Given the description of an element on the screen output the (x, y) to click on. 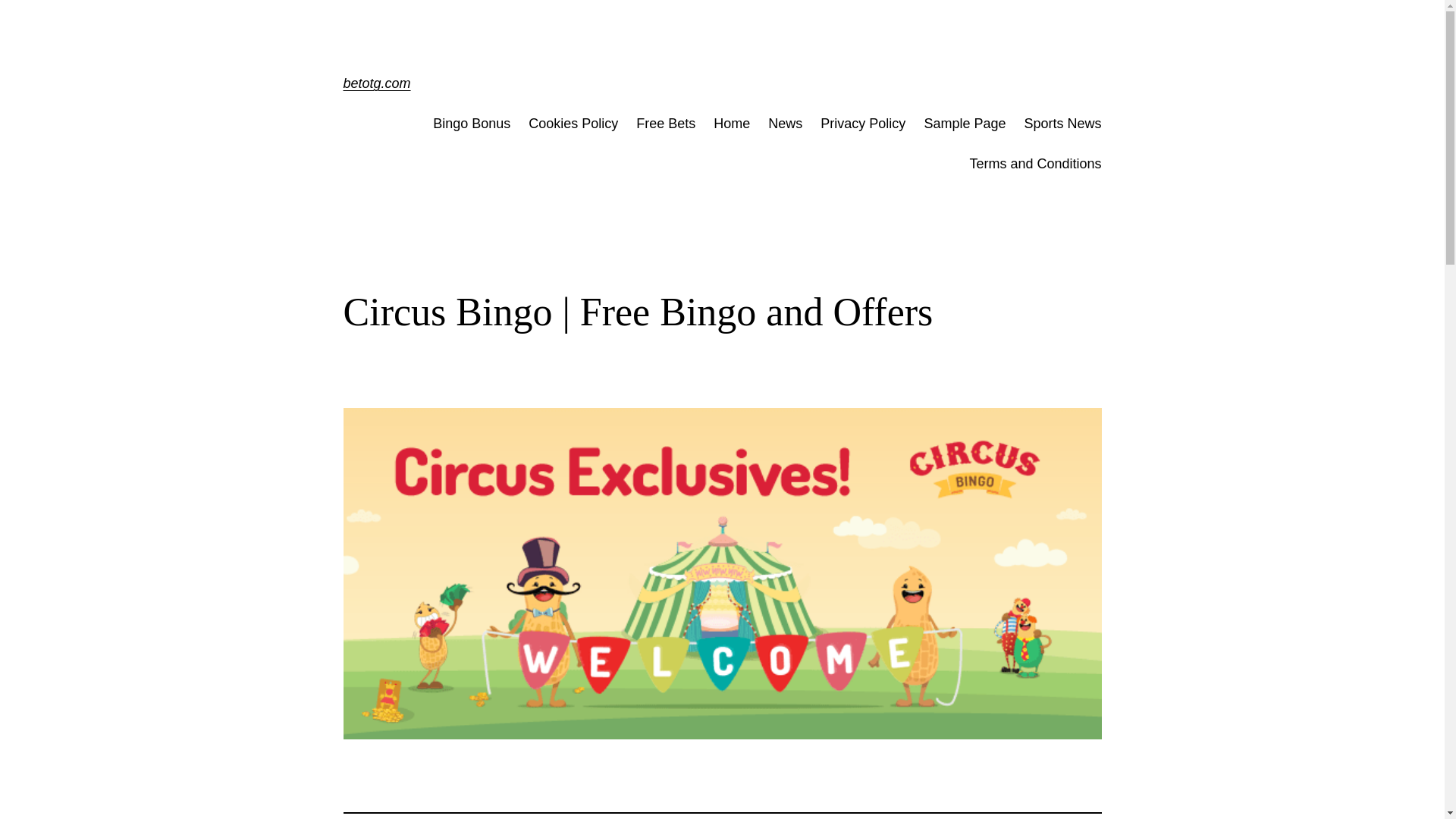
Home (731, 124)
Privacy Policy (863, 124)
Sample Page (964, 124)
Sports News (1061, 124)
News (785, 124)
Terms and Conditions (1034, 164)
betotg.com (376, 83)
Free Bets (665, 124)
Cookies Policy (572, 124)
Bingo Bonus (471, 124)
